Given the description of an element on the screen output the (x, y) to click on. 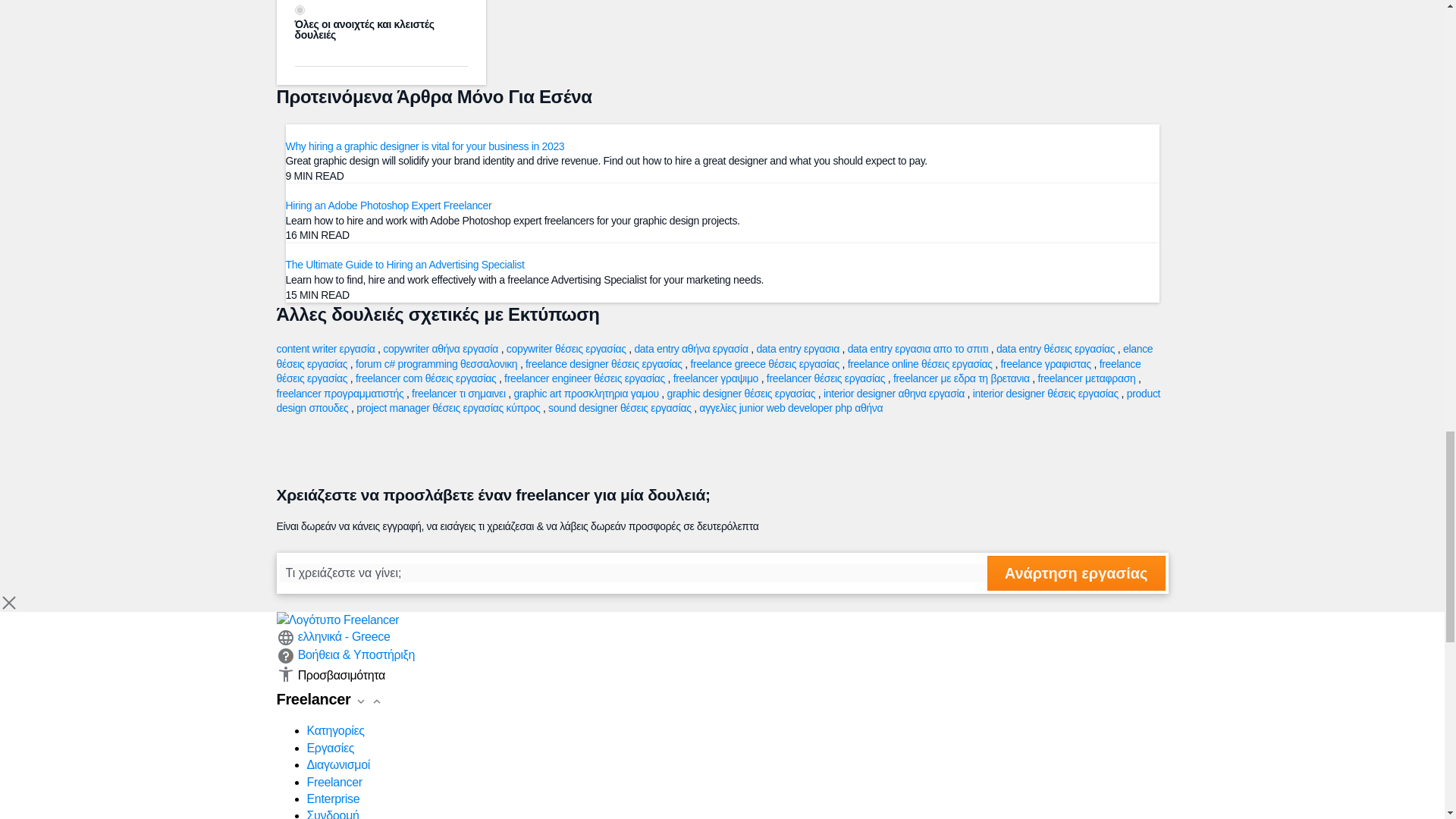
all (299, 9)
